Given the description of an element on the screen output the (x, y) to click on. 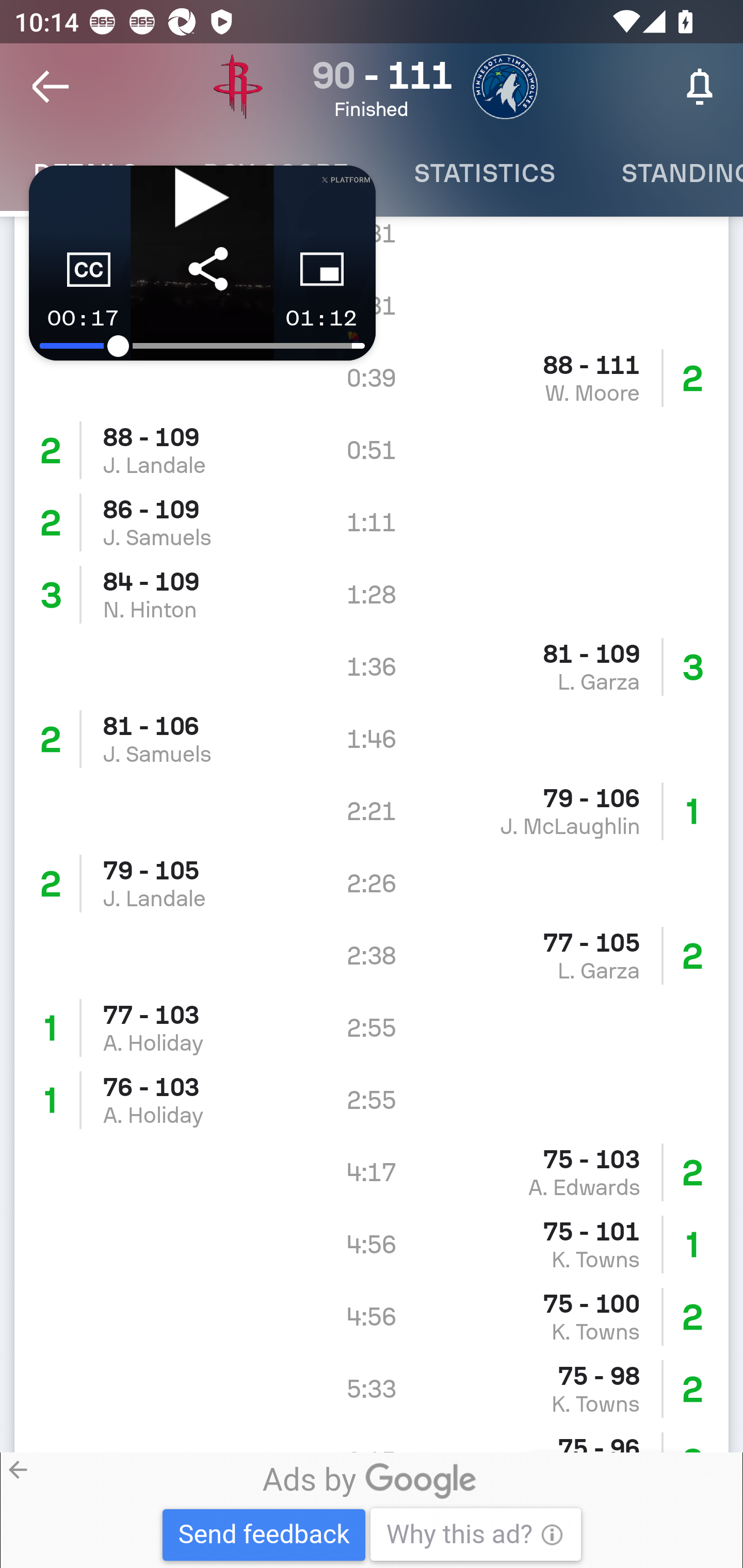
Navigate up (50, 86)
Statistics STATISTICS (484, 173)
88  -  109 J. Landale 0:51 (371, 449)
86  -  109 J. Samuels 1:11 (371, 522)
84  -  109 N. Hinton 1:28 (371, 594)
109  -  81 L. Garza 1:36 (371, 666)
81  -  106 J. Samuels 1:46 (371, 738)
106  -  79 J. McLaughlin 2:21 (371, 810)
79  -  105 J. Landale 2:26 (371, 883)
105  -  77 L. Garza 2:38 (371, 956)
77  -  103 A. Holiday 2:55 (371, 1028)
76  -  103 A. Holiday 2:55 (371, 1100)
103  -  75 A. Edwards 4:17 (371, 1172)
101  -  75 K. Towns 4:56 (371, 1244)
100  -  75 K. Towns 4:56 (371, 1317)
98  -  75 K. Towns 5:33 (371, 1389)
